Given the description of an element on the screen output the (x, y) to click on. 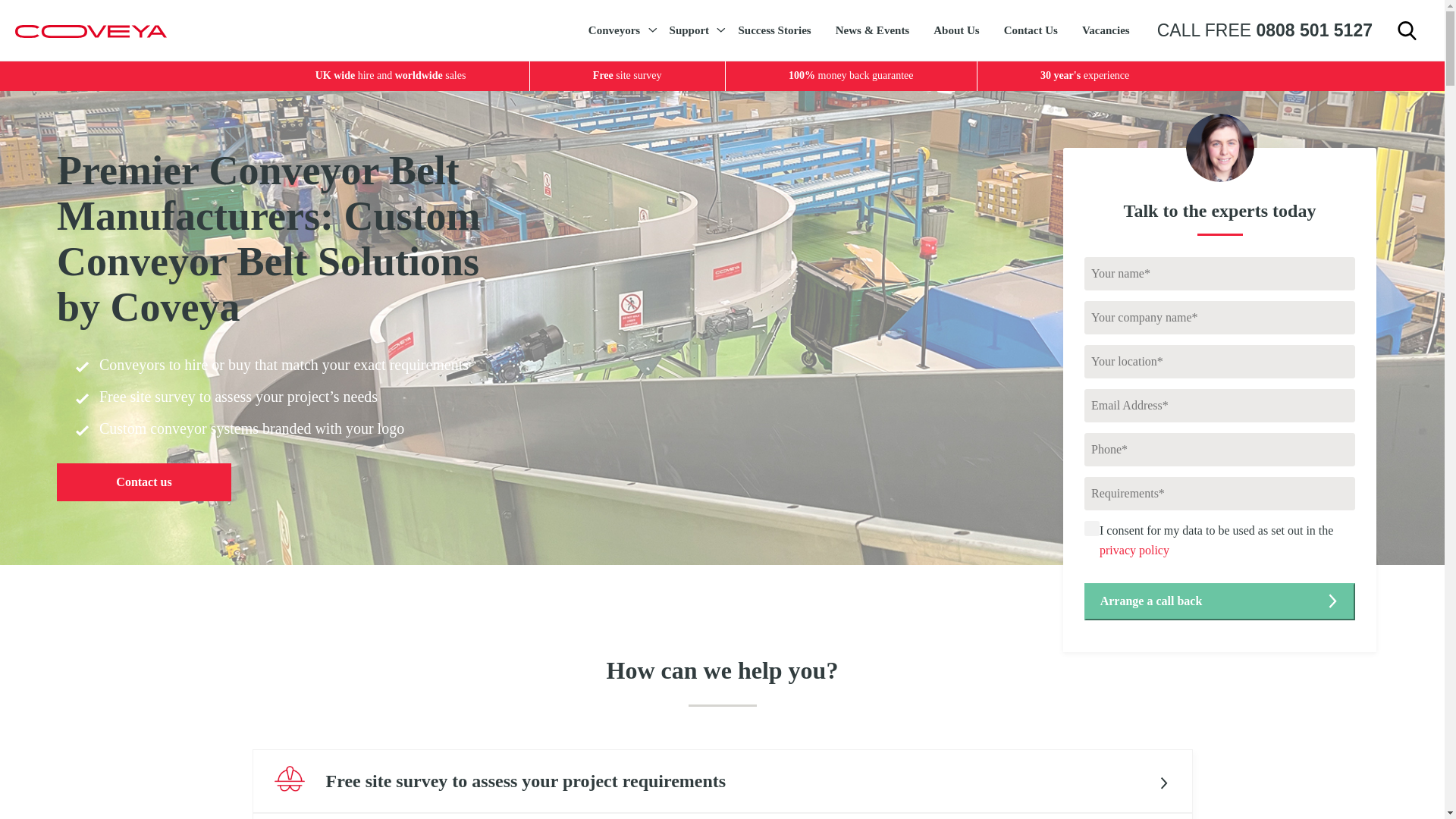
0808 501 5127 (1314, 30)
Vacancies (1105, 30)
Success Stories (773, 30)
Arrange a call back (1219, 601)
Return to homepage (90, 30)
Conveyors (617, 30)
1 (1091, 528)
Contact Us (1030, 30)
Support (692, 30)
About Us (956, 30)
